Given the description of an element on the screen output the (x, y) to click on. 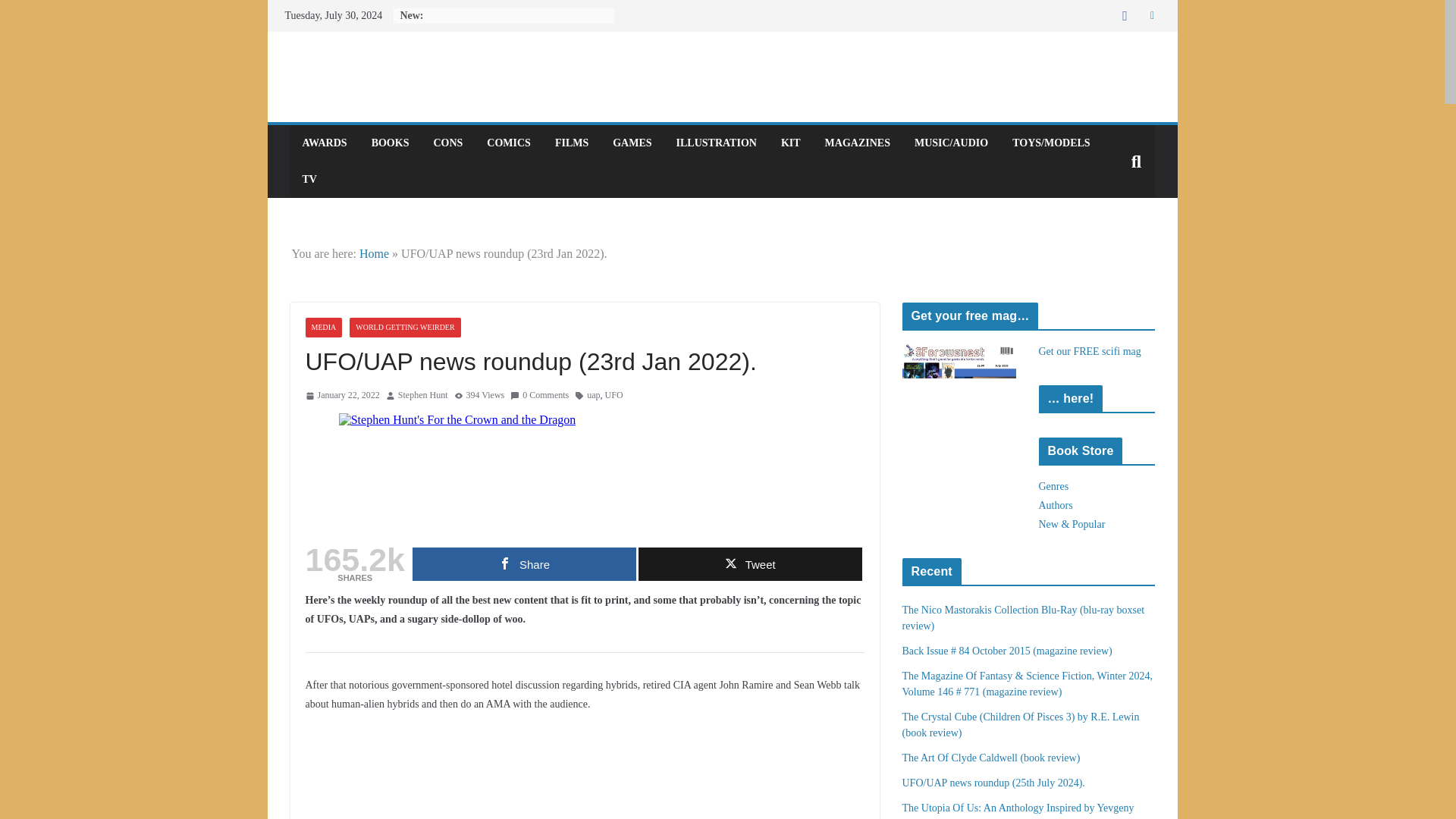
UFO (614, 395)
Share (524, 563)
KIT (790, 142)
MEDIA (323, 327)
YouTube video player (475, 774)
BOOKS (390, 142)
CONS (447, 142)
Home (373, 253)
12:29 pm (341, 395)
Tweet (750, 563)
COMICS (508, 142)
WORLD GETTING WEIRDER (404, 327)
0 Comments (540, 395)
ILLUSTRATION (717, 142)
January 22, 2022 (341, 395)
